Given the description of an element on the screen output the (x, y) to click on. 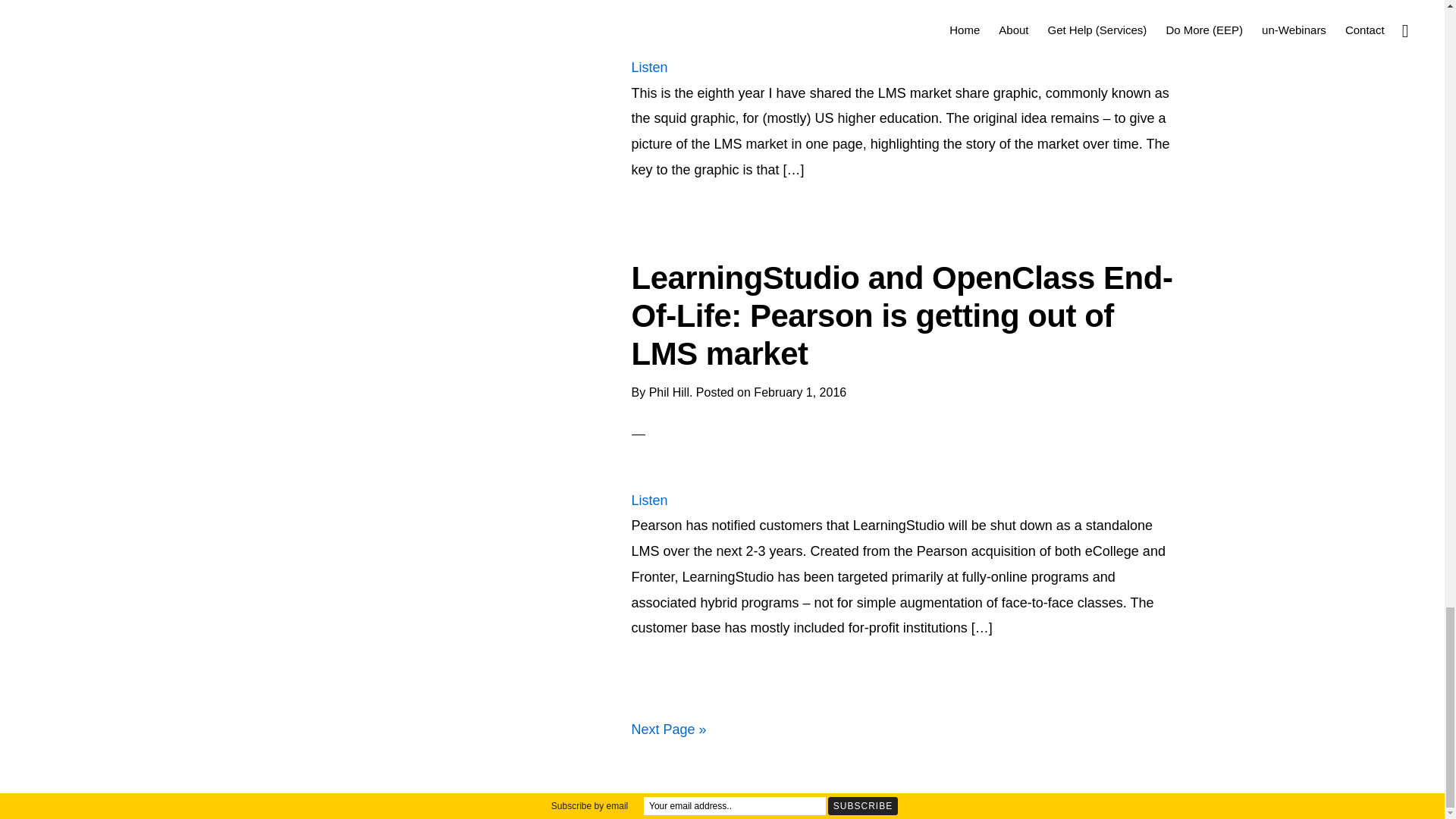
Listen (648, 500)
Listen to this page using ReadSpeaker (648, 500)
Listen (648, 67)
Phil Hill (668, 391)
Listen to this page using ReadSpeaker (648, 67)
